Given the description of an element on the screen output the (x, y) to click on. 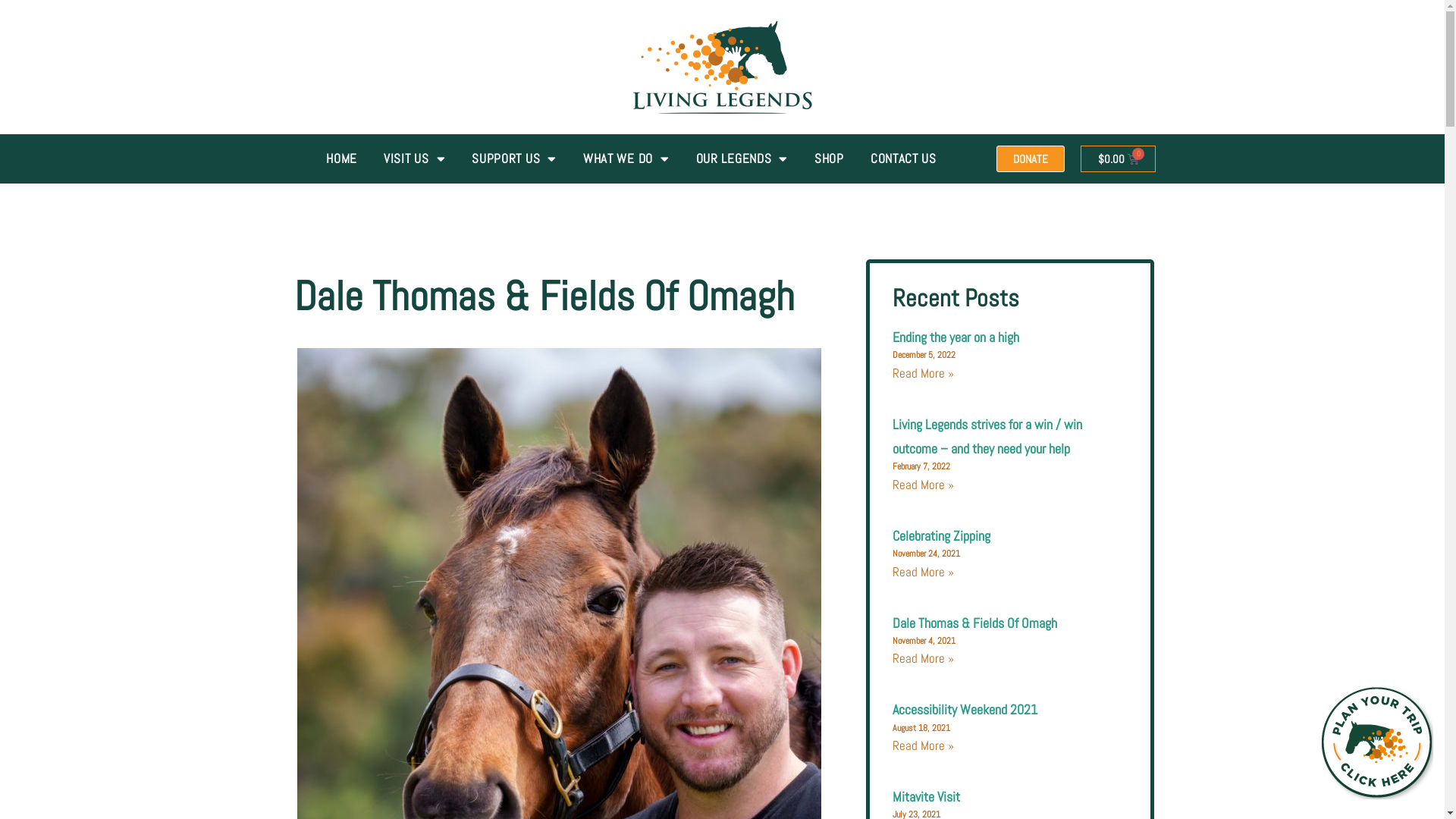
Dale Thomas & Fields Of Omagh Element type: text (974, 622)
WHAT WE DO Element type: text (626, 158)
$0.00
0 Element type: text (1117, 158)
HOME Element type: text (341, 158)
DONATE Element type: text (1030, 158)
Mitavite Visit Element type: text (926, 796)
Ending the year on a high Element type: text (955, 336)
Celebrating Zipping Element type: text (941, 535)
SUPPORT US Element type: text (513, 158)
CONTACT US Element type: text (903, 158)
VISIT US Element type: text (414, 158)
Accessibility Weekend 2021 Element type: text (964, 709)
OUR LEGENDS Element type: text (741, 158)
SHOP Element type: text (829, 158)
